Given the description of an element on the screen output the (x, y) to click on. 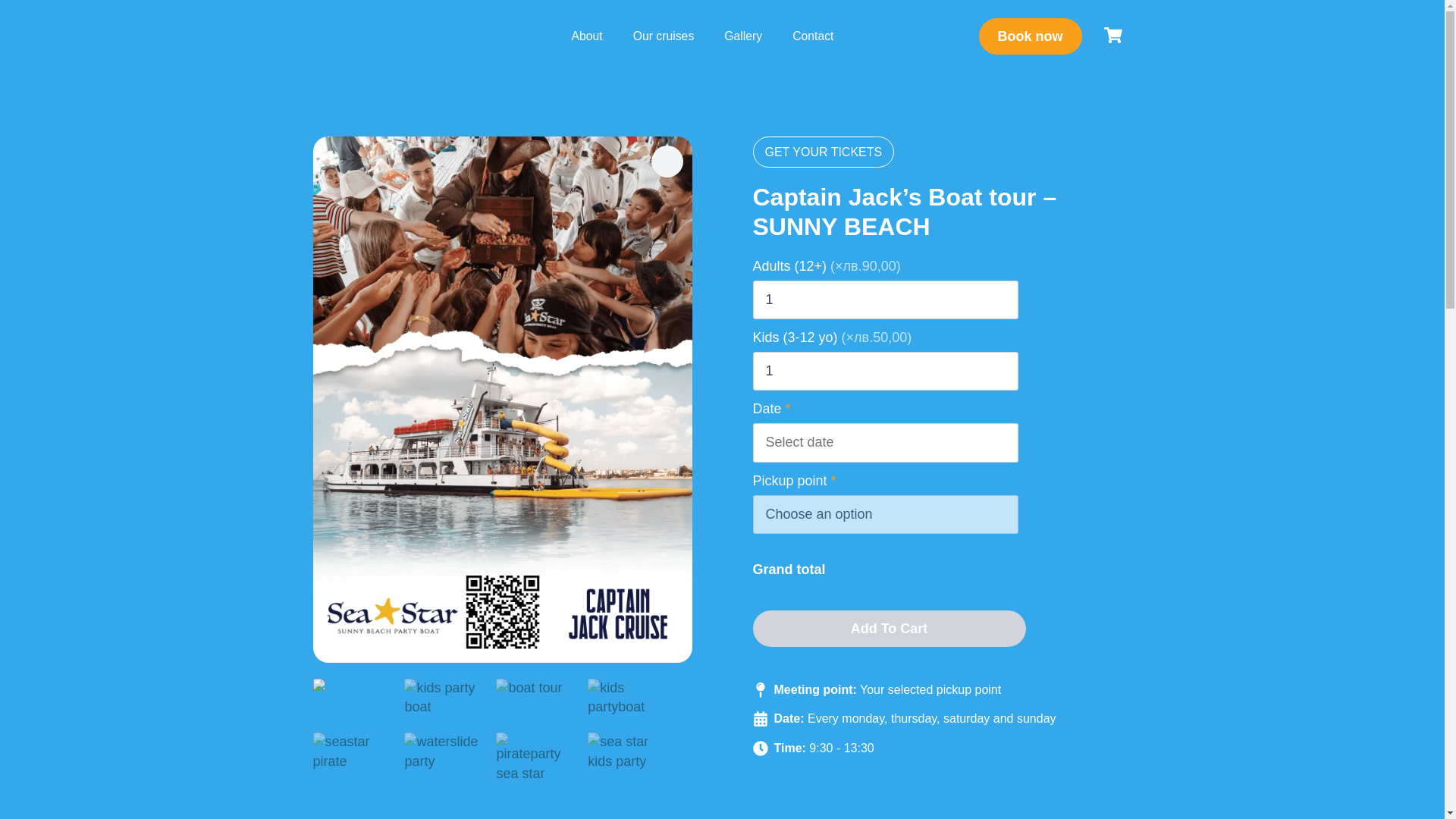
1 (884, 299)
Contact (812, 36)
Gallery (743, 36)
Book now (1029, 36)
Our cruises (663, 36)
Add To Cart (888, 628)
1 (884, 371)
About (586, 36)
